Given the description of an element on the screen output the (x, y) to click on. 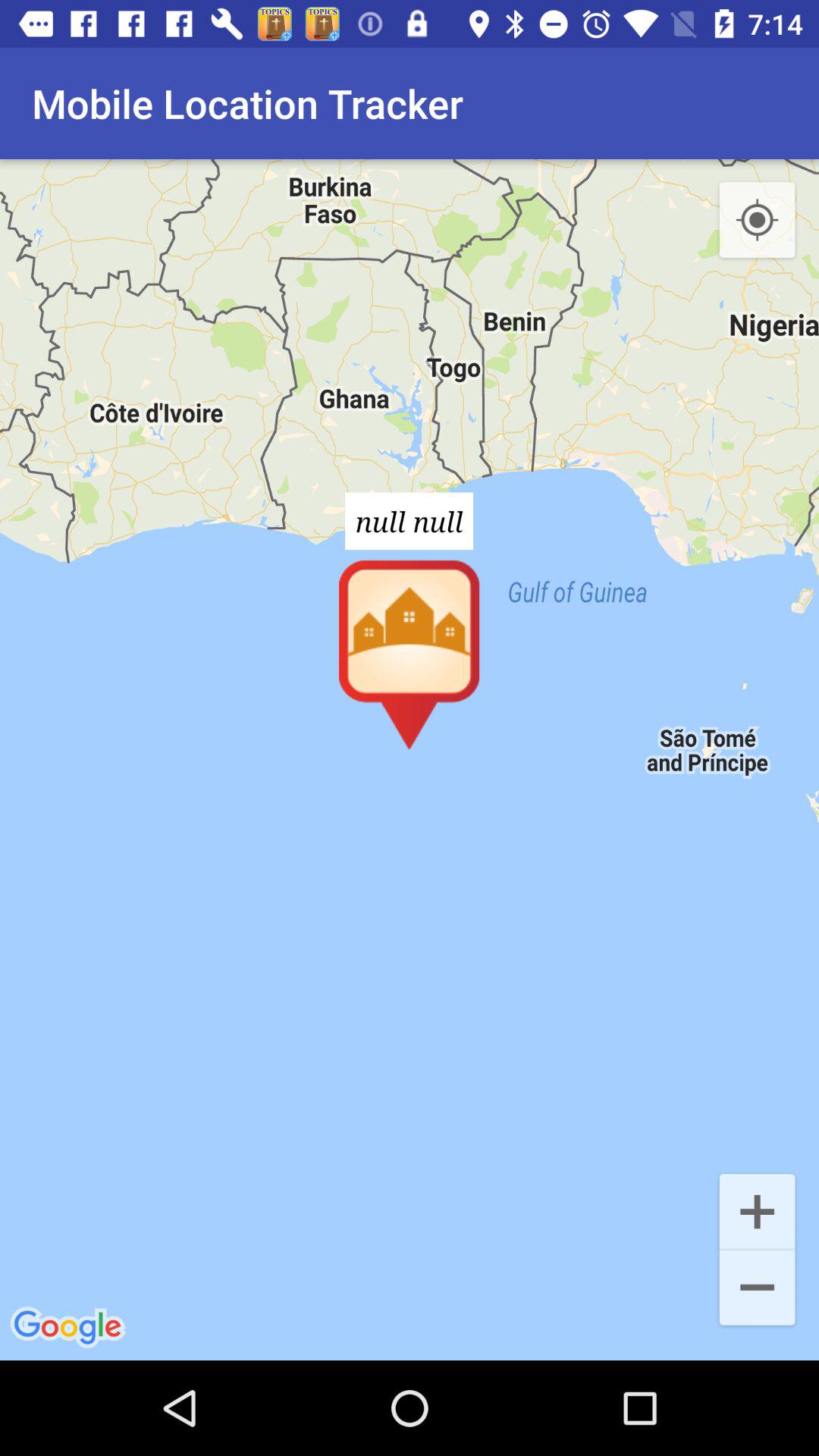
launch icon below the mobile location tracker icon (409, 759)
